Given the description of an element on the screen output the (x, y) to click on. 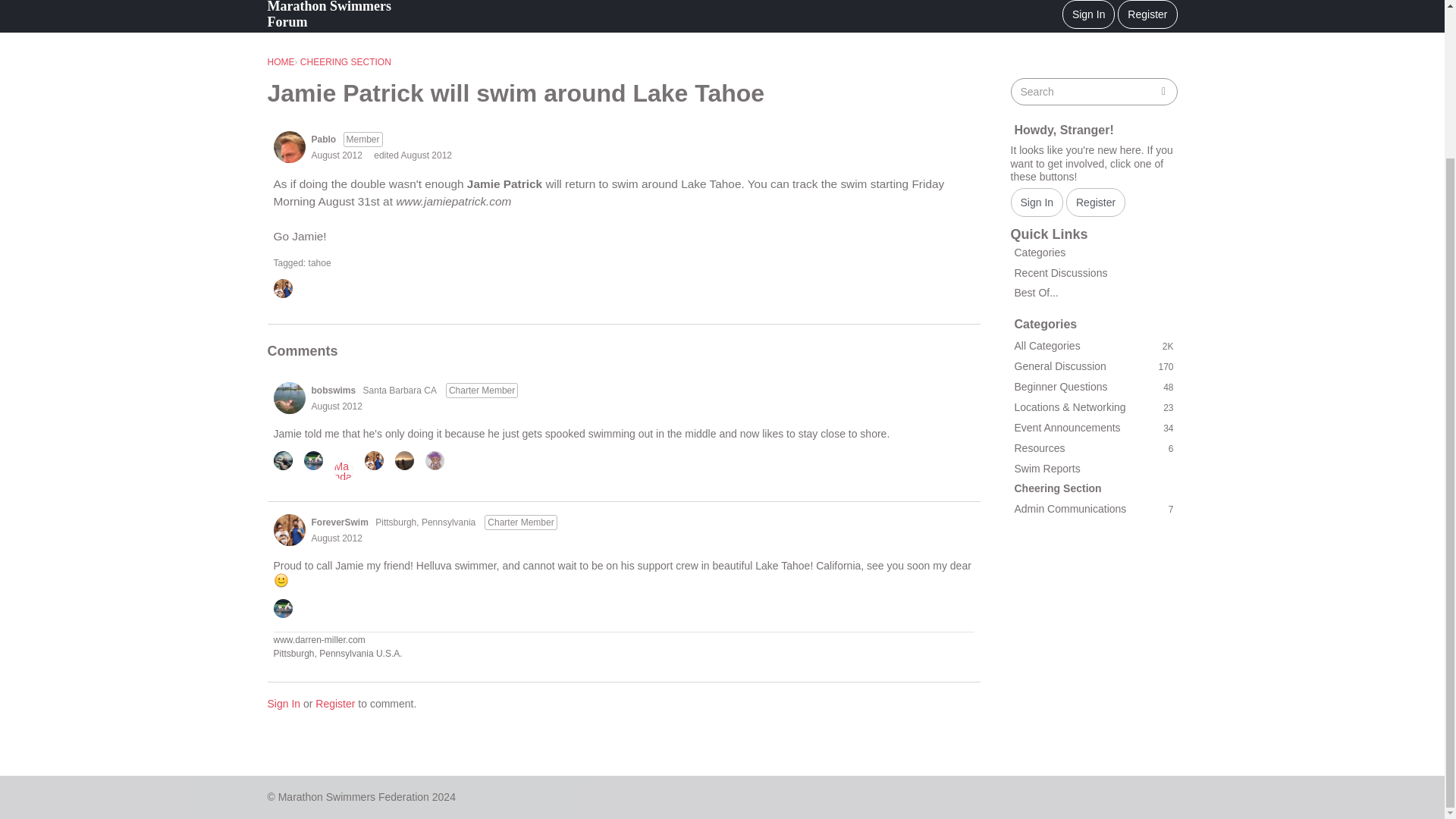
ForeverSwim - Like on August 28, 2012. (287, 289)
CHEERING SECTION (345, 61)
ForeverSwim (282, 288)
bobswims (333, 390)
Pablo (323, 139)
August 2012 (336, 538)
Register (335, 703)
Mandai (342, 470)
bobswims (288, 398)
JBirrrd (434, 460)
